Given the description of an element on the screen output the (x, y) to click on. 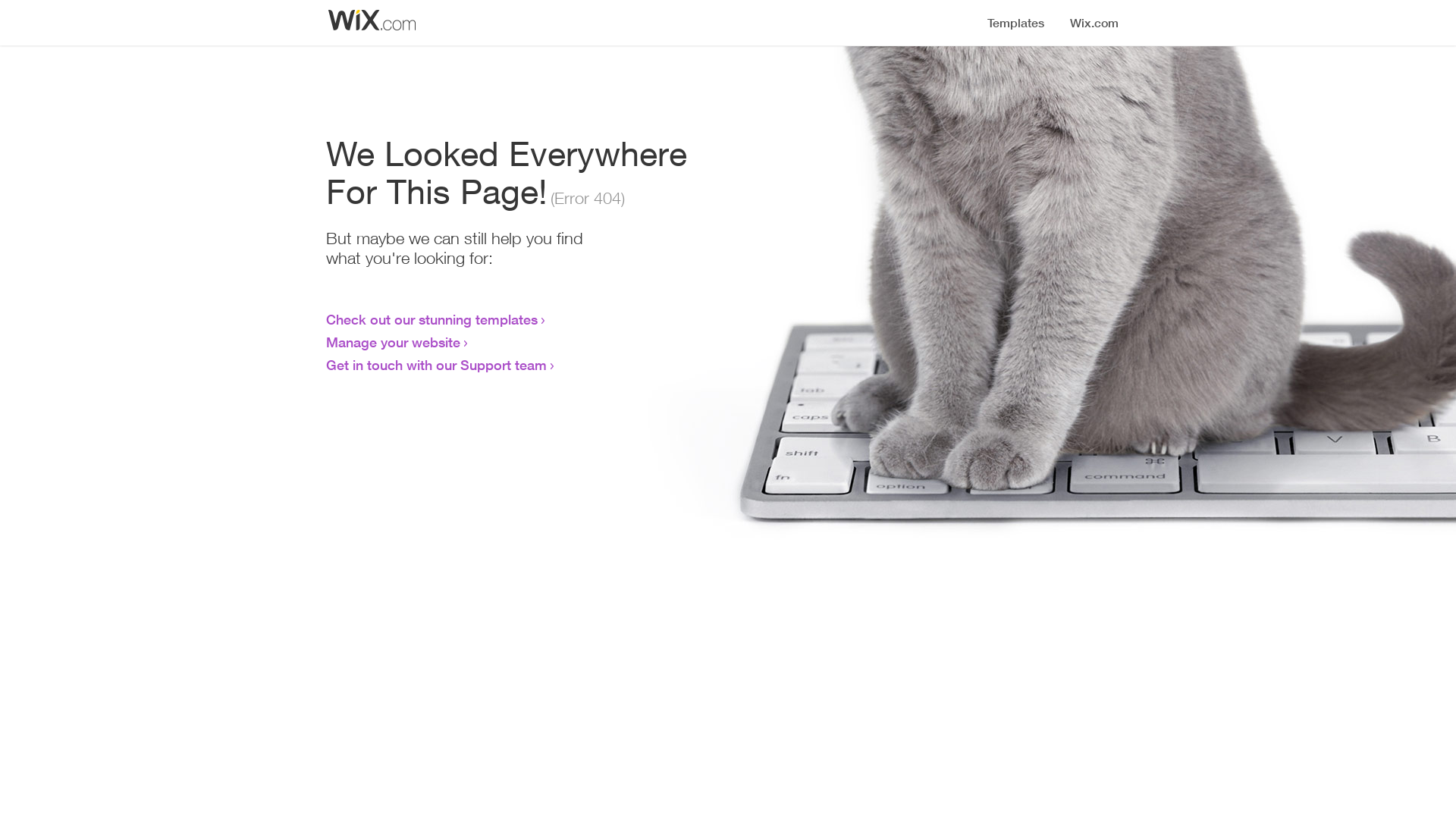
Check out our stunning templates Element type: text (431, 318)
Manage your website Element type: text (393, 341)
Get in touch with our Support team Element type: text (436, 364)
